Given the description of an element on the screen output the (x, y) to click on. 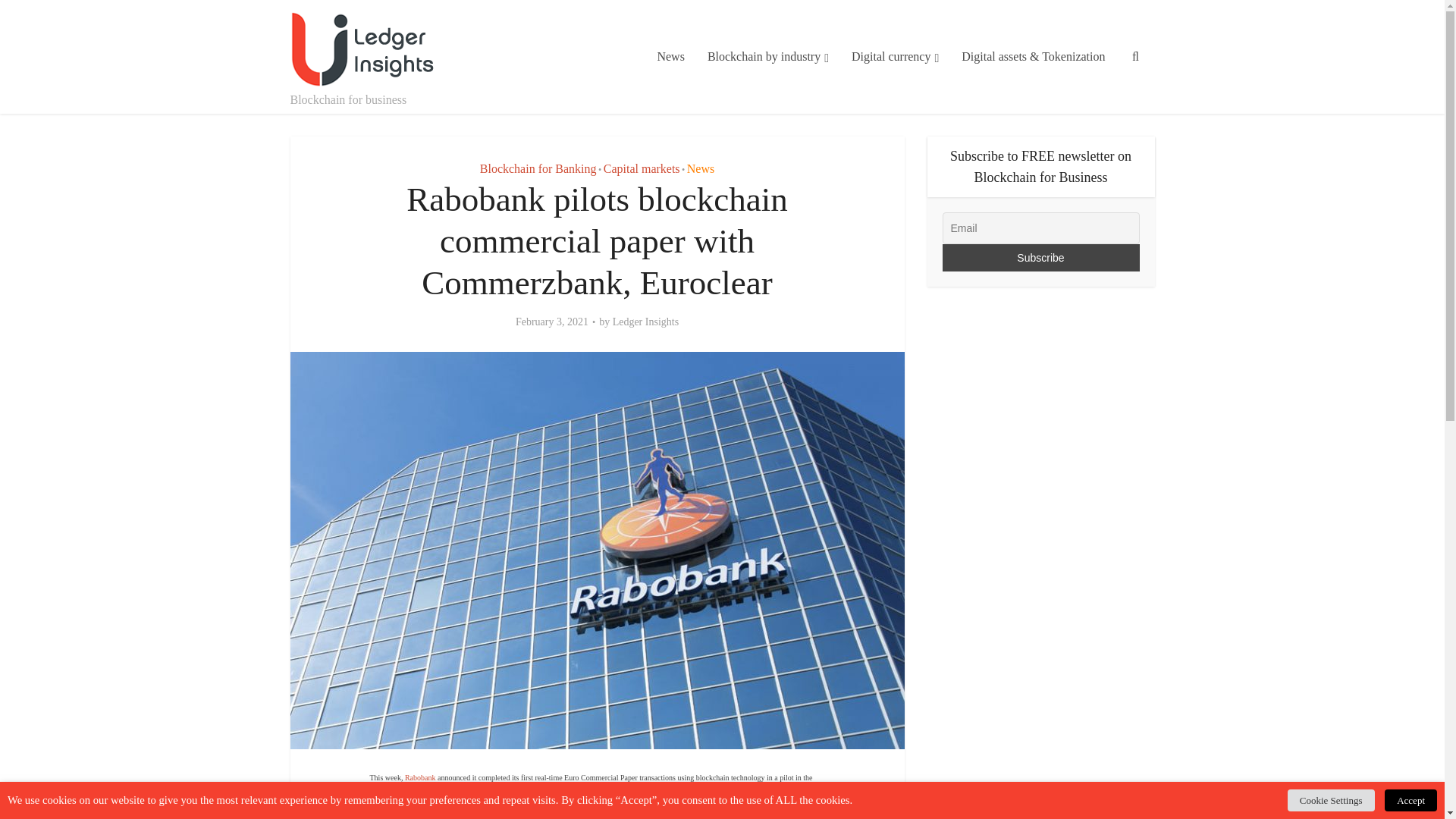
Digital currency (895, 56)
Blockchain by industry (767, 56)
Subscribe (1040, 257)
